Given the description of an element on the screen output the (x, y) to click on. 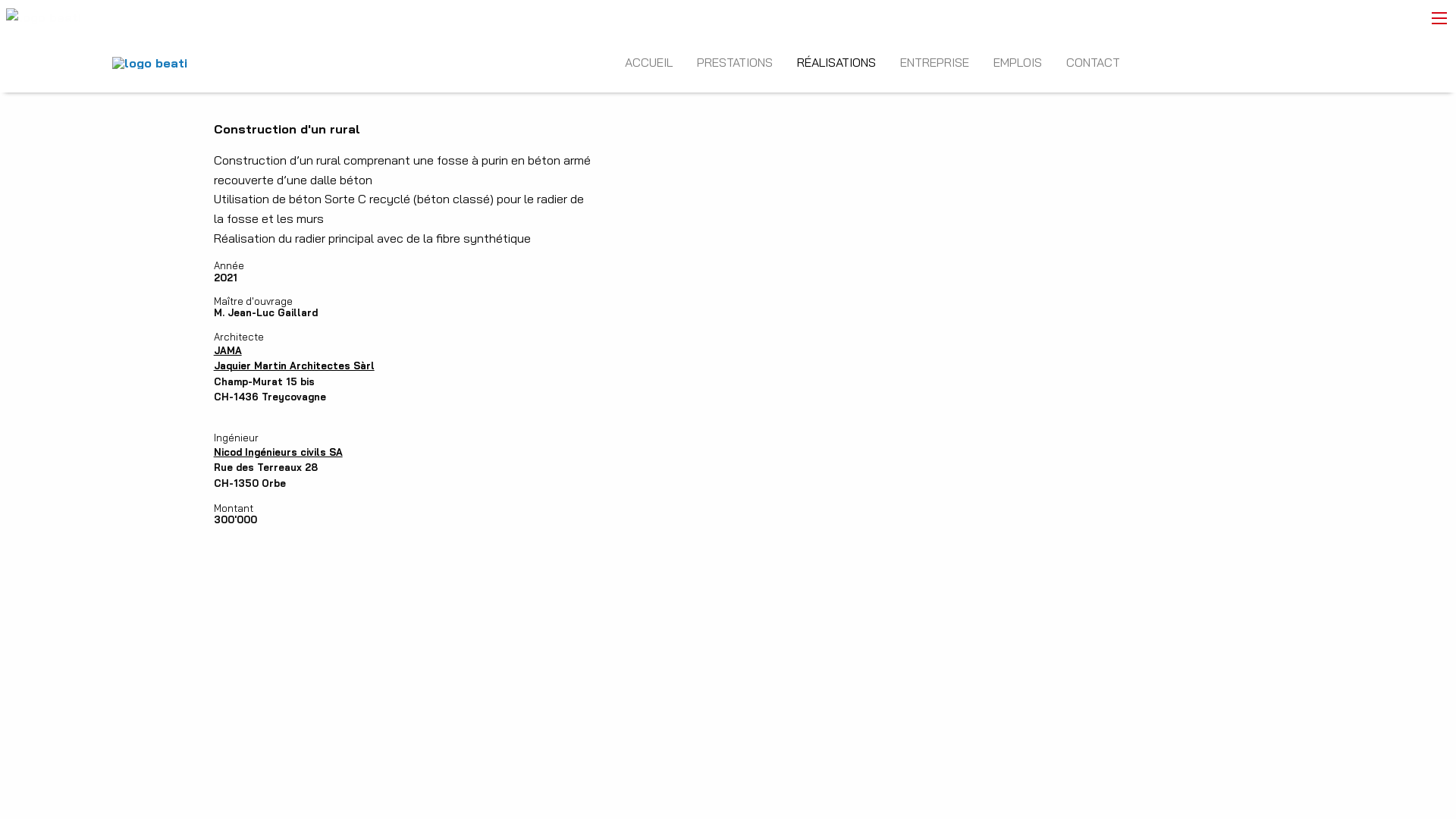
EMPLOIS Element type: text (1017, 61)
CONTACT Element type: text (1093, 61)
ENTREPRISE Element type: text (934, 61)
PRESTATIONS Element type: text (734, 61)
ACCUEIL Element type: text (648, 61)
JAMA Element type: text (227, 350)
